Given the description of an element on the screen output the (x, y) to click on. 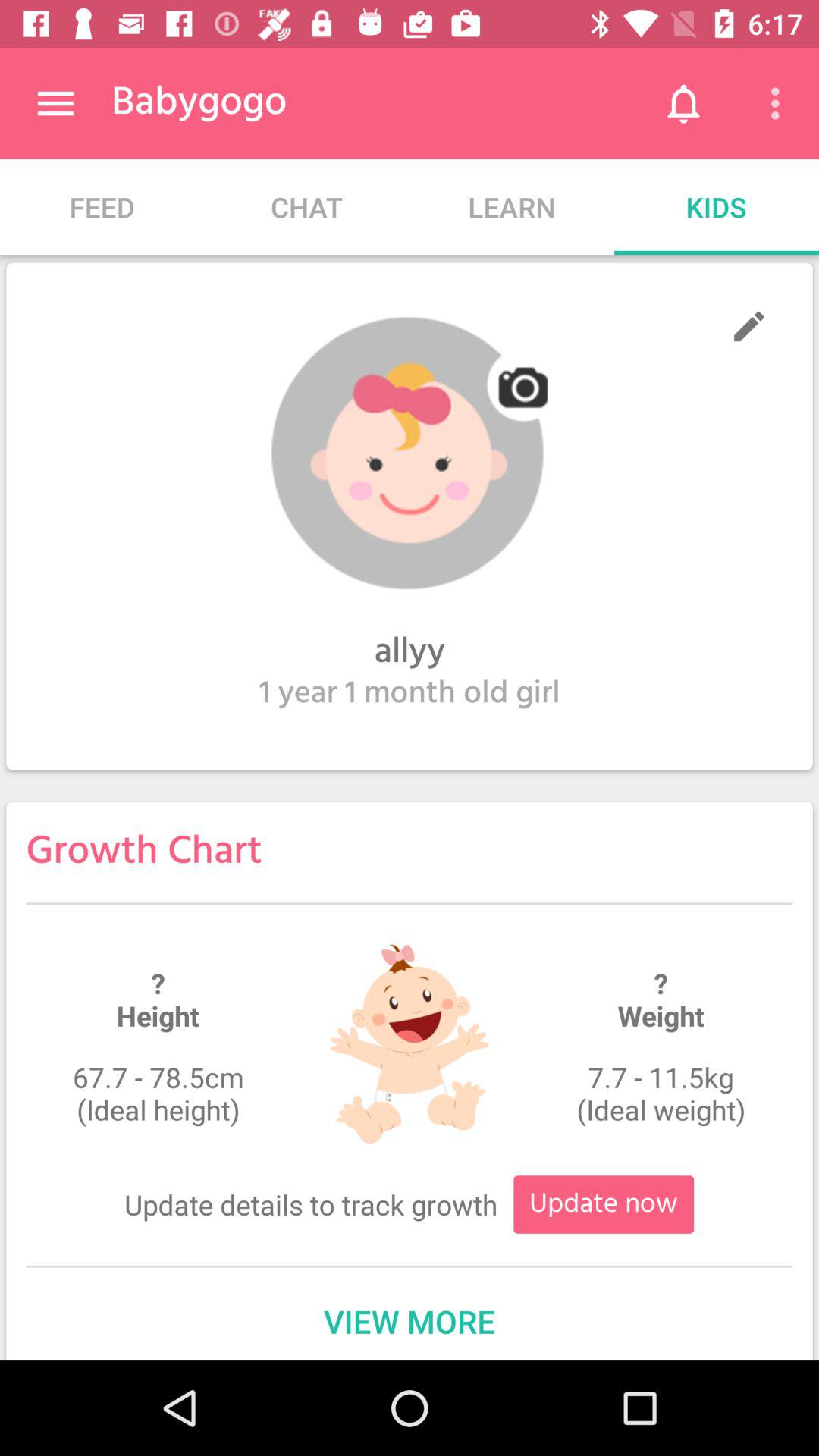
edit kid avatar (748, 326)
